Given the description of an element on the screen output the (x, y) to click on. 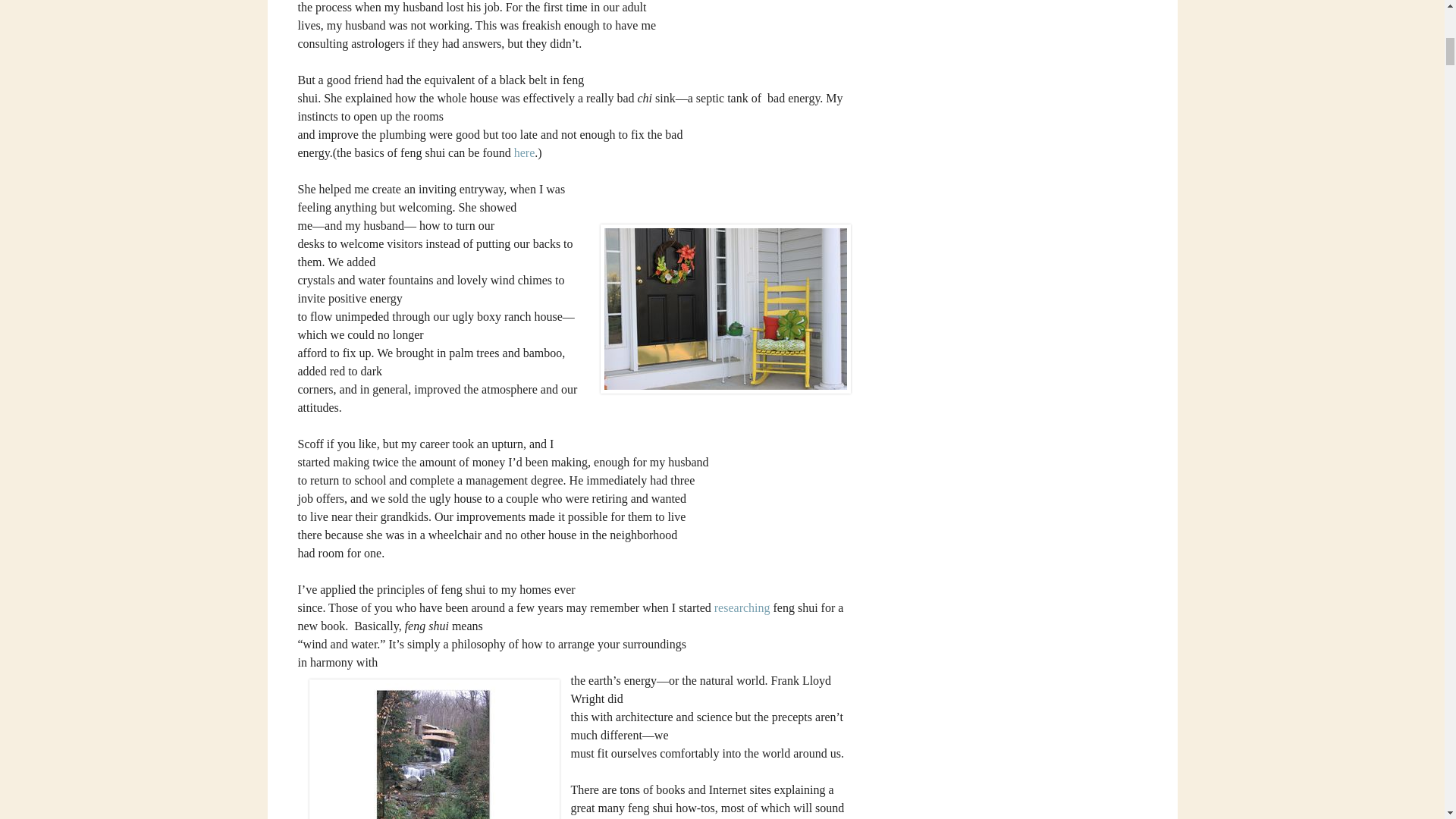
Frank lloyd wright (433, 749)
here (524, 152)
Front door (724, 308)
researching (743, 607)
